Given the description of an element on the screen output the (x, y) to click on. 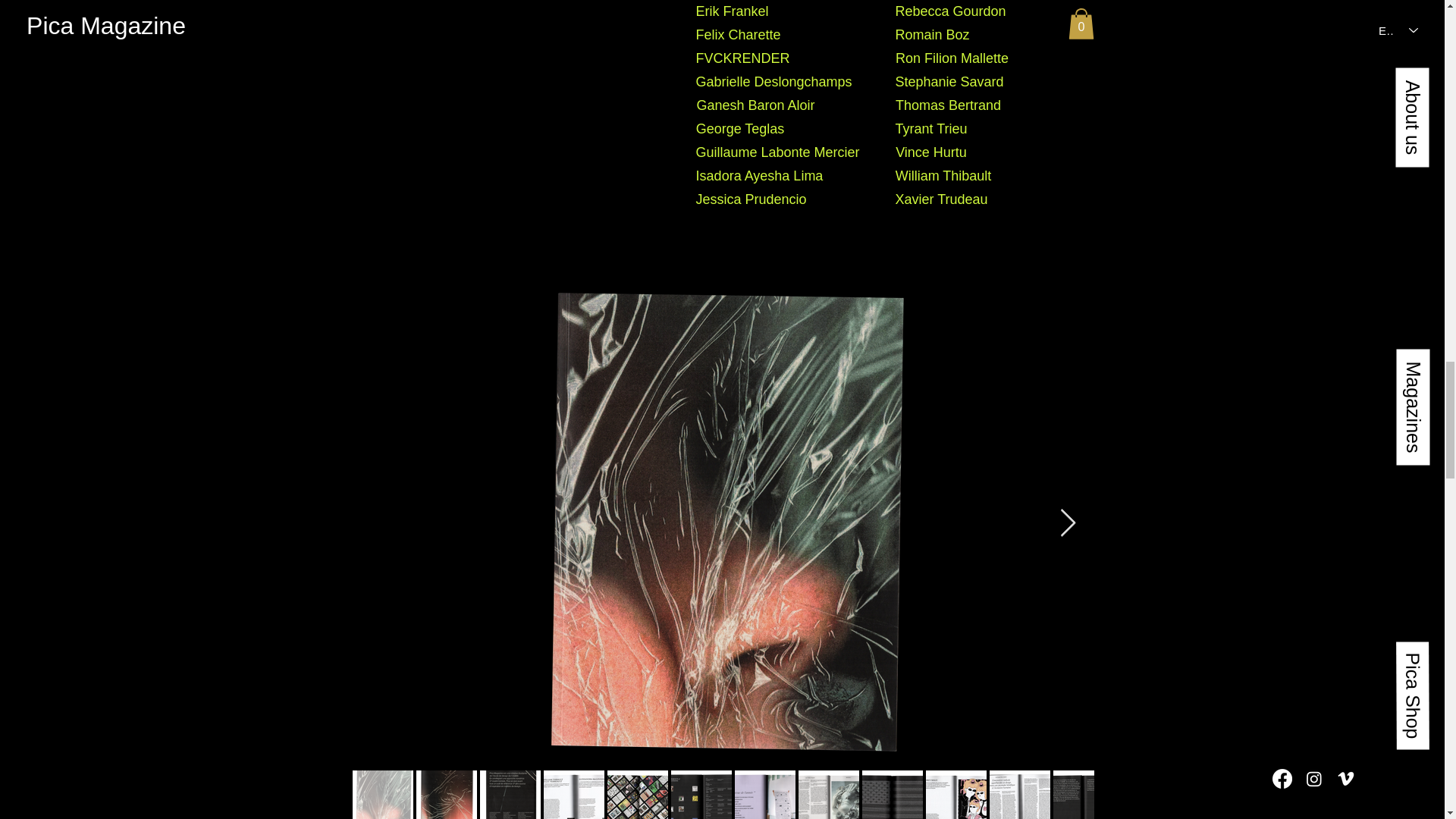
Isadora Ayesha Lima (759, 176)
Jessica Prudencio (750, 199)
FVCKRENDER (742, 58)
George Teglas (739, 128)
Ganesh Baron Aloir (755, 105)
Felix Charette (737, 34)
Gabrielle Deslongchamps (773, 82)
